Given the description of an element on the screen output the (x, y) to click on. 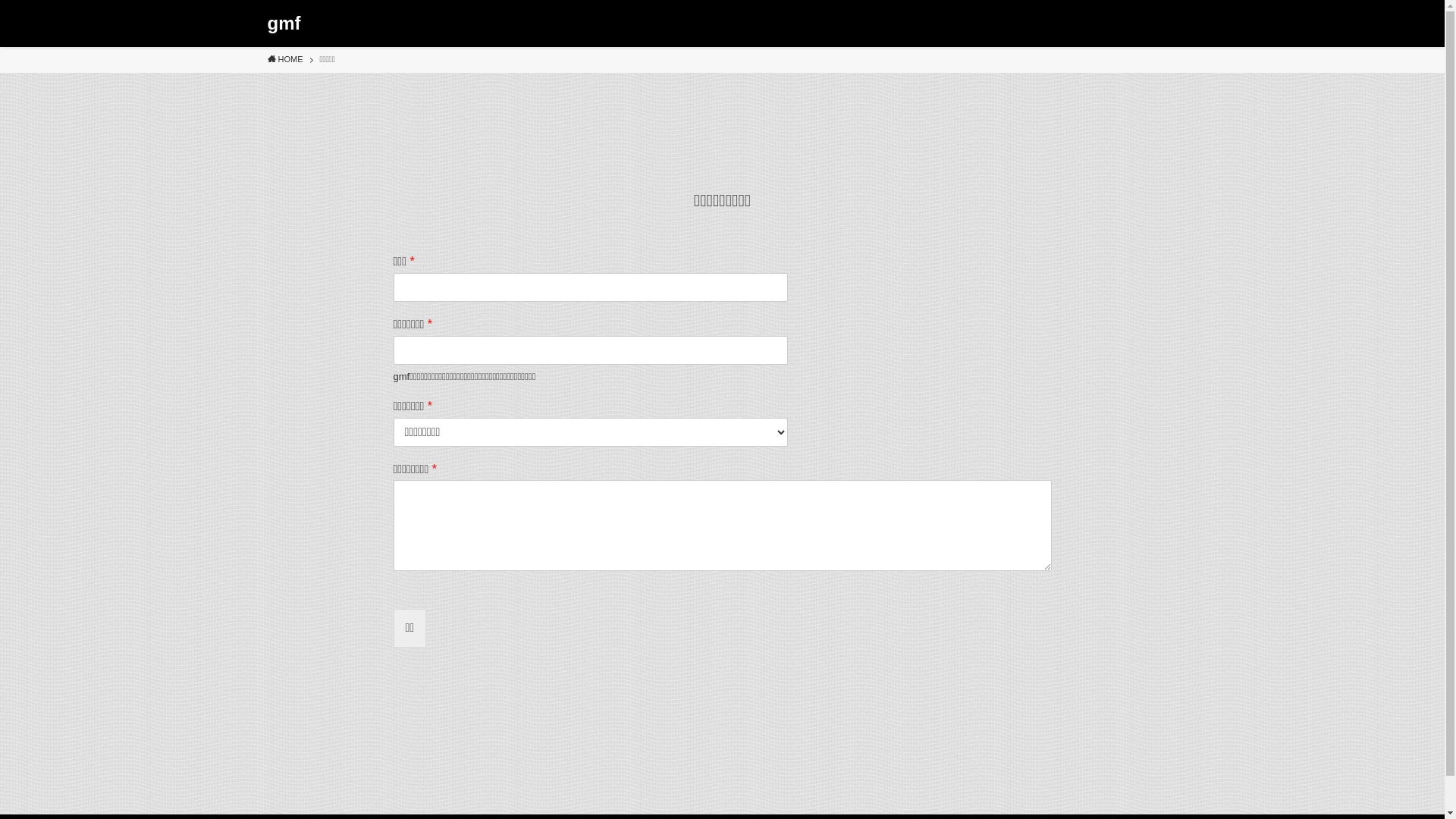
gmf Element type: text (283, 23)
search Element type: text (921, 421)
HOME Element type: text (284, 59)
